Given the description of an element on the screen output the (x, y) to click on. 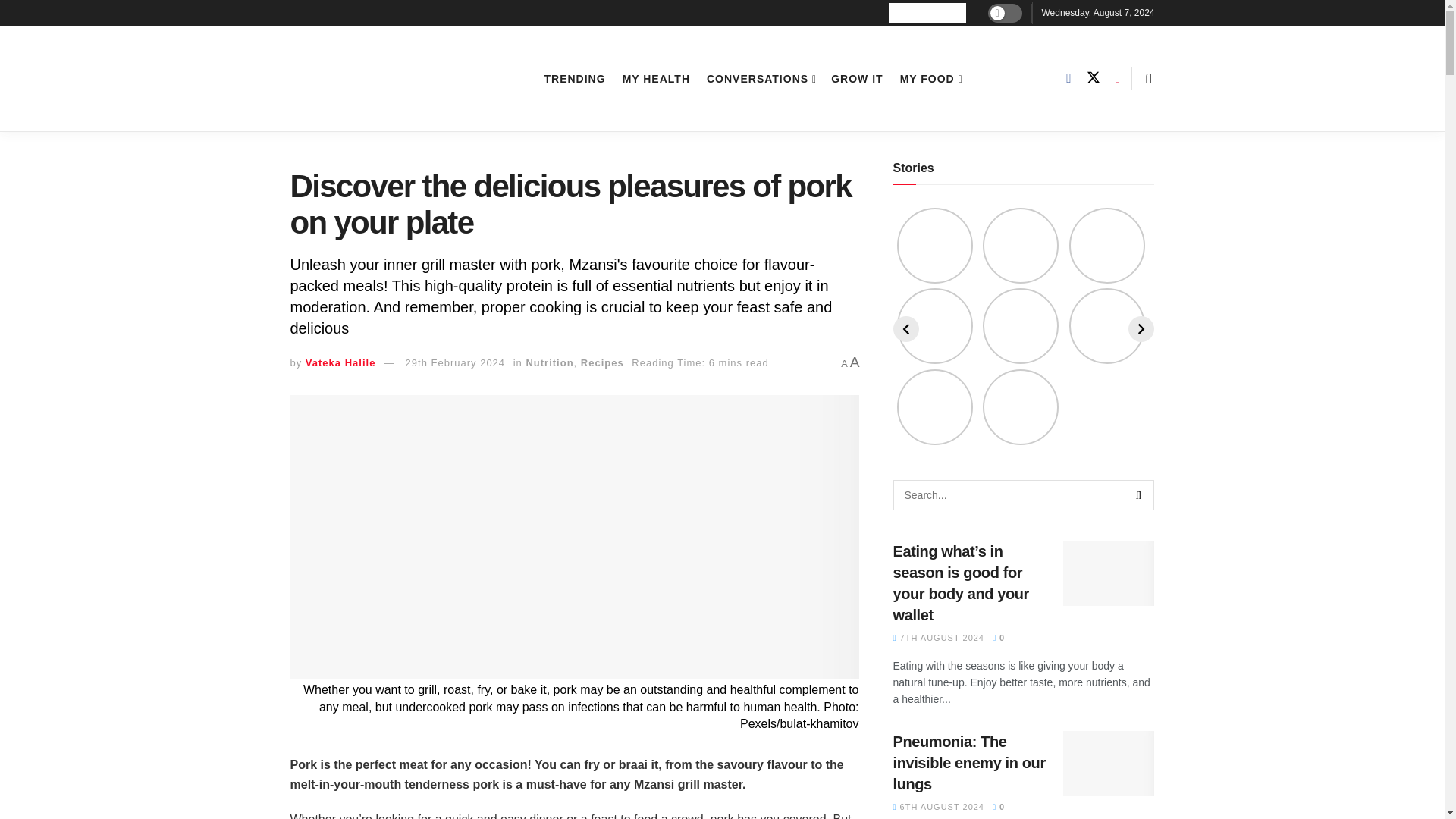
TRENDING (574, 78)
GROW IT (856, 78)
CONVERSATIONS (759, 78)
Nutrition (549, 362)
Recipes (602, 362)
SUBSCRIBE (926, 12)
Vateka Halile (340, 362)
MY FOOD (929, 78)
29th February 2024 (455, 362)
MY HEALTH (656, 78)
